Given the description of an element on the screen output the (x, y) to click on. 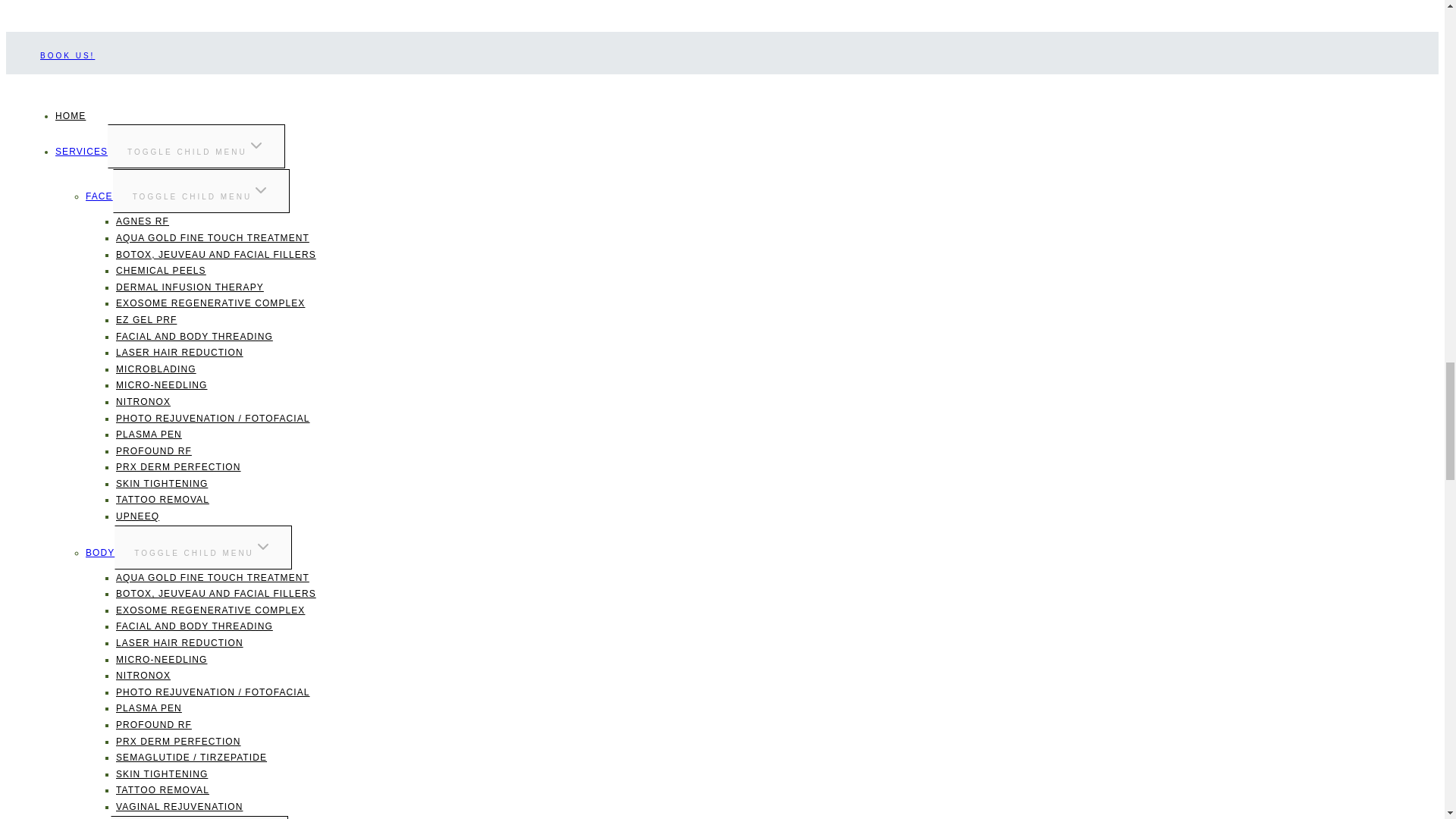
EXPAND (255, 145)
EXPAND (260, 189)
EXPAND (262, 546)
